Given the description of an element on the screen output the (x, y) to click on. 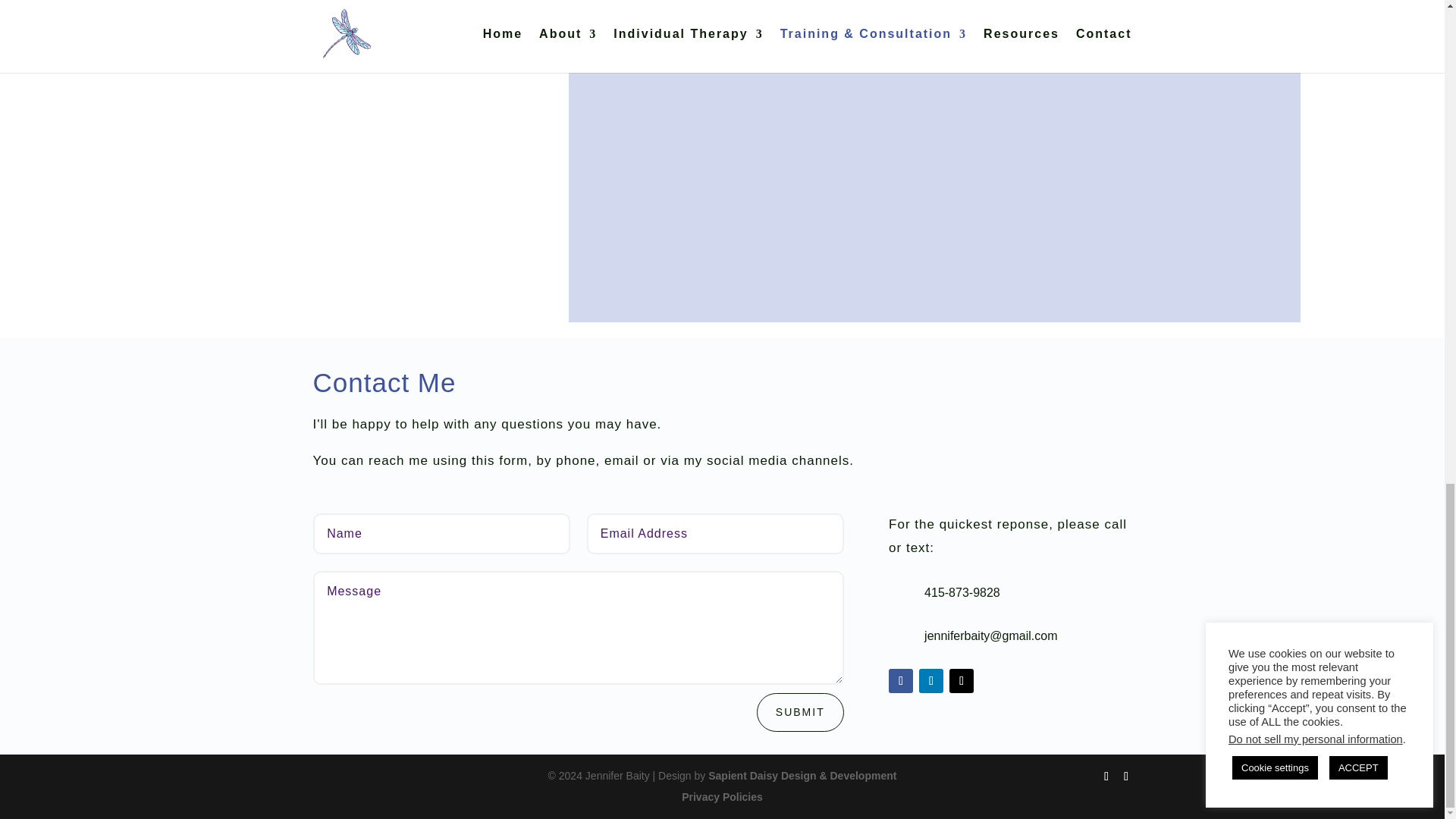
Follow on X (961, 680)
SUBMIT (800, 712)
Privacy Policies (721, 797)
Follow on LinkedIn (930, 680)
Follow on Facebook (900, 680)
